Given the description of an element on the screen output the (x, y) to click on. 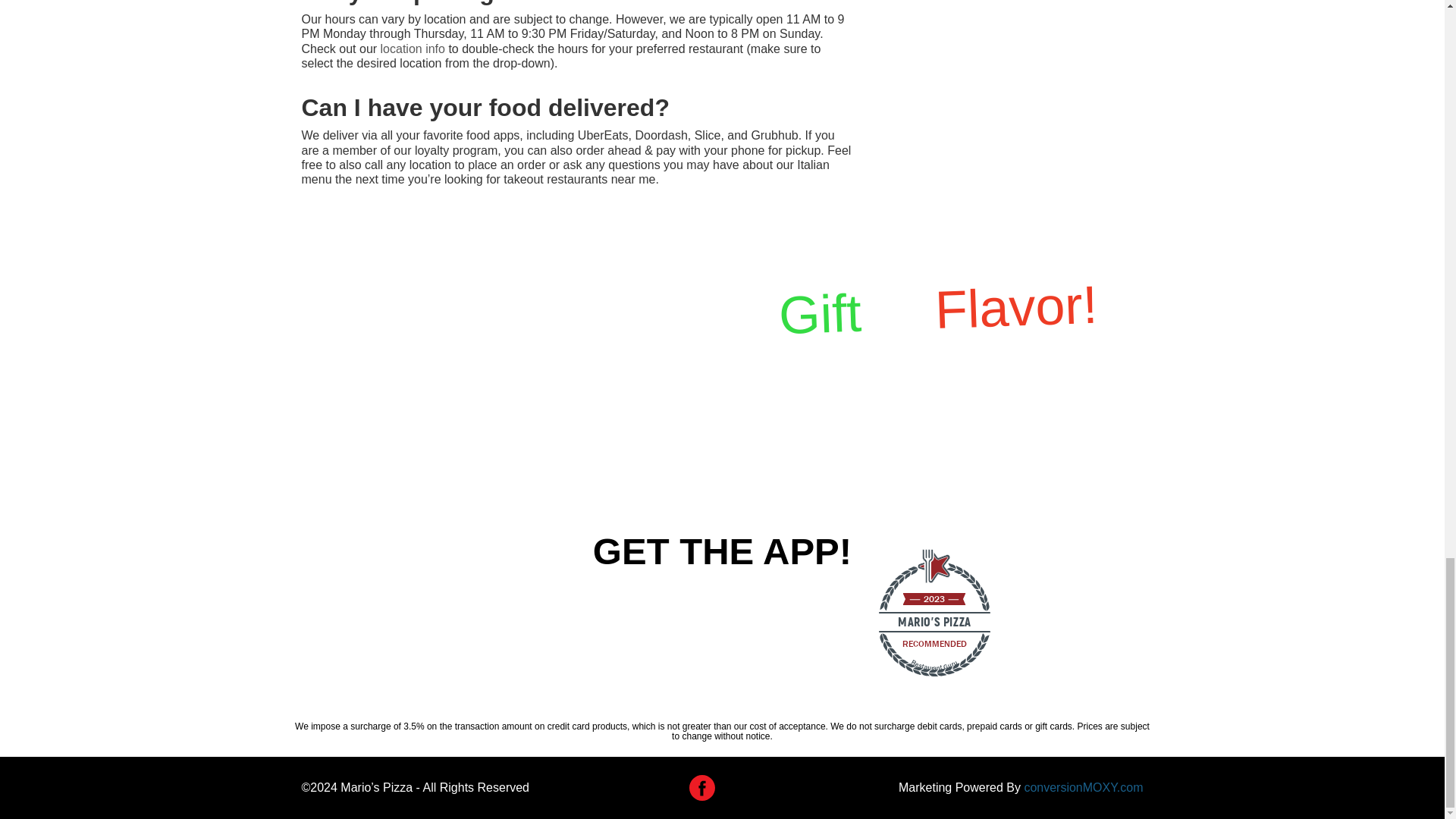
Restaurant Guru (933, 624)
Mario's Big Pizza (434, 616)
